Given the description of an element on the screen output the (x, y) to click on. 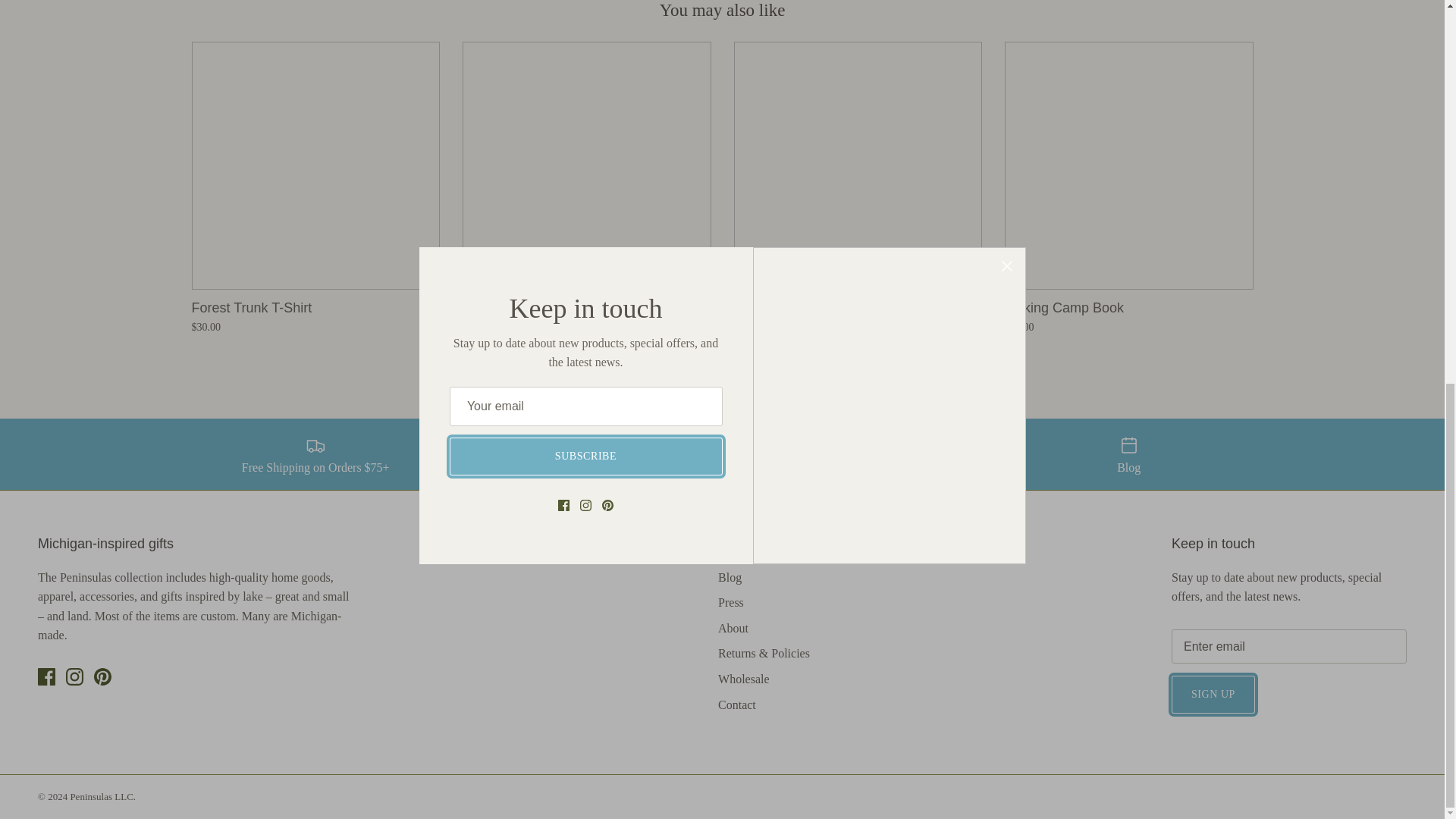
Facebook (46, 676)
